Given the description of an element on the screen output the (x, y) to click on. 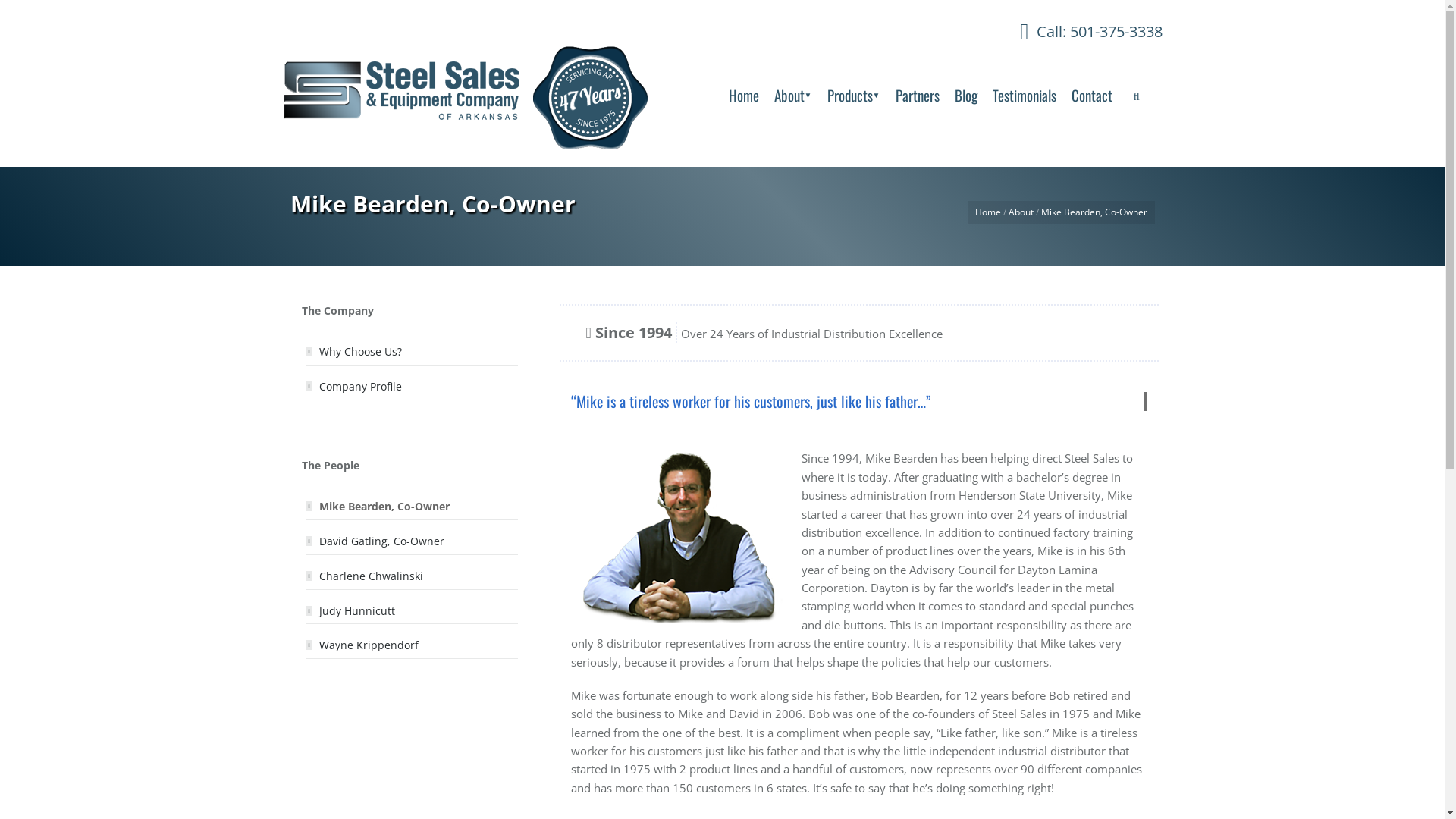
Call: 501-375-3338 Element type: text (1097, 31)
Partners Element type: text (916, 94)
Products Element type: text (852, 94)
Charlene Chwalinski Element type: text (371, 575)
Judy Hunnicutt Element type: text (357, 610)
About Element type: text (792, 94)
Why Choose Us? Element type: text (360, 351)
Wayne Krippendorf Element type: text (368, 644)
Blog Element type: text (964, 94)
Steel Sales Element type: text (501, 98)
Home Element type: text (988, 211)
Mike Bearden, Co-Owner Element type: text (384, 505)
Testimonials Element type: text (1023, 94)
David Gatling, Co-Owner Element type: text (381, 540)
Contact Element type: text (1090, 94)
Company Profile Element type: text (360, 386)
Home Element type: text (743, 94)
About Element type: text (1020, 211)
